Given the description of an element on the screen output the (x, y) to click on. 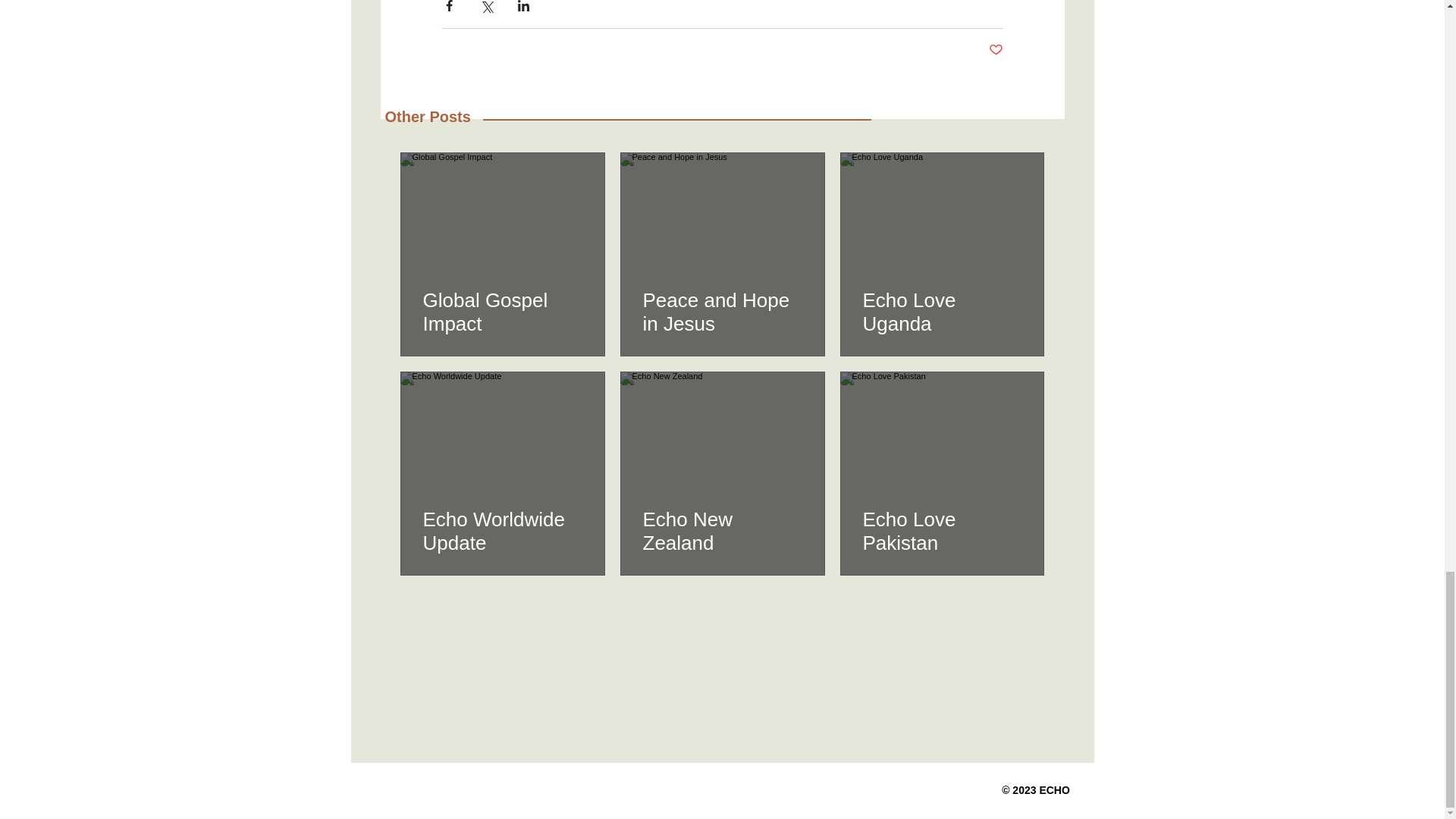
Echo Worldwide Update (502, 530)
Peace and Hope in Jesus (722, 311)
Post not marked as liked (995, 50)
Echo Love Uganda (942, 311)
Global Gospel Impact (502, 311)
Echo Love Pakistan (942, 530)
Echo New Zealand (722, 530)
